Given the description of an element on the screen output the (x, y) to click on. 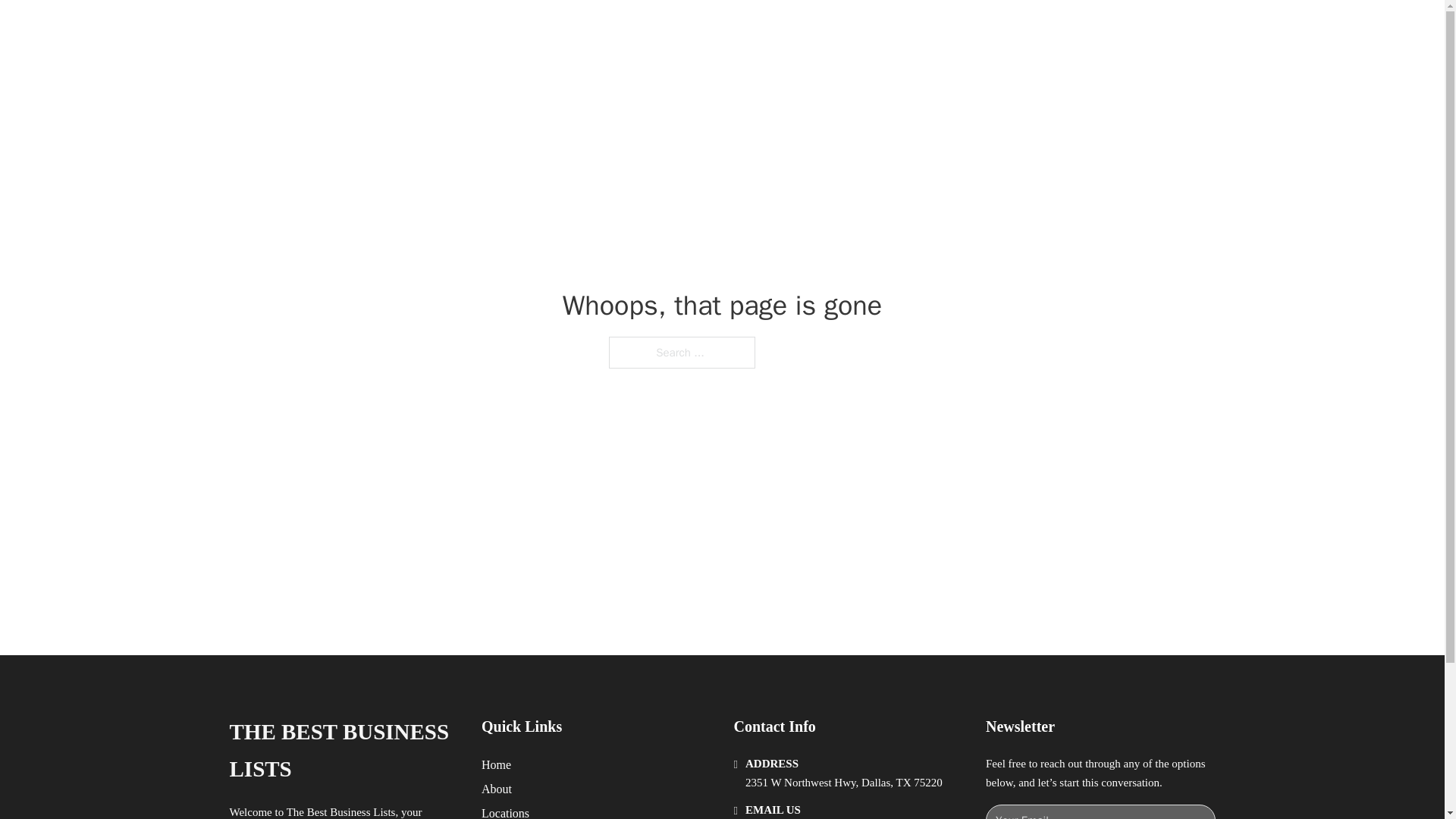
THE BEST BUSINESS LISTS (343, 750)
Home (496, 764)
About (496, 788)
THE BEST BUSINESS LISTS (443, 28)
Locations (505, 811)
LOCATIONS (990, 29)
HOME (919, 29)
